Given the description of an element on the screen output the (x, y) to click on. 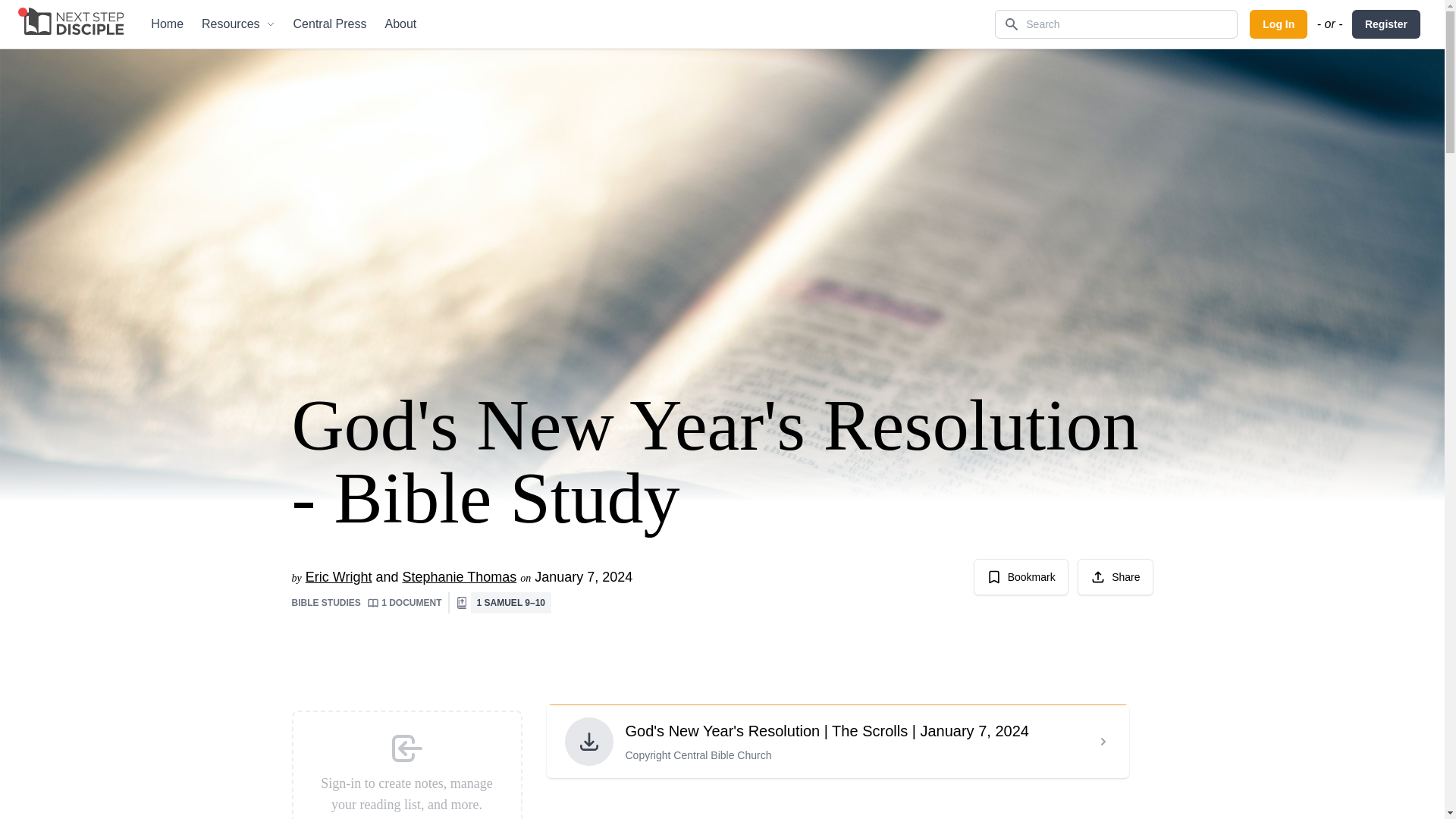
Log In (1278, 23)
Central Press (329, 23)
Share (1115, 576)
Bookmark (1021, 576)
You are currently offline. (22, 11)
Stephanie Thomas (458, 576)
BIBLE STUDIES (326, 603)
Home (166, 23)
Resources (237, 23)
About (400, 23)
